Given the description of an element on the screen output the (x, y) to click on. 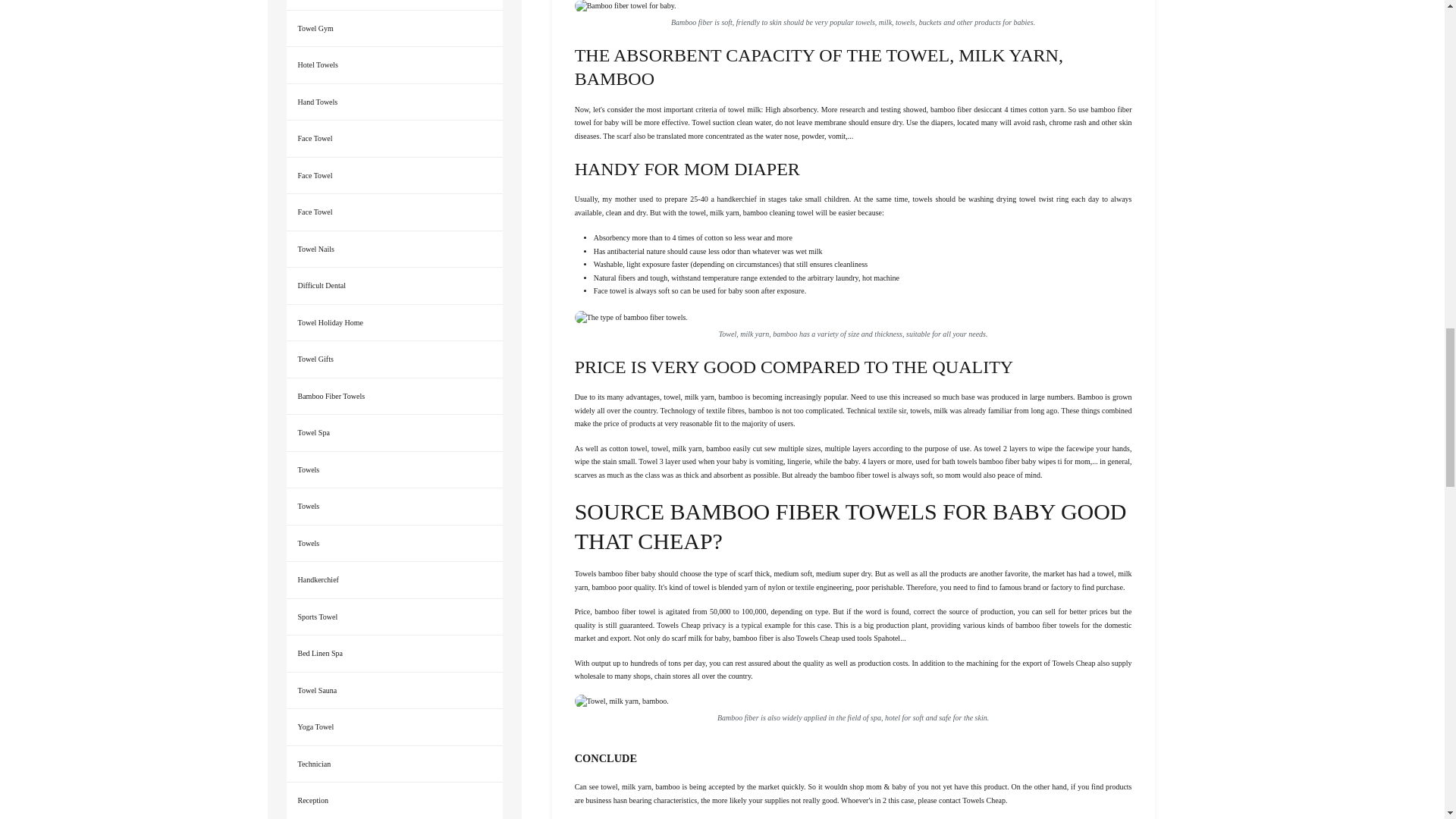
Towel, milk yarn, bamboo. (621, 701)
Bamboo fiber towel for baby. (626, 6)
The type of bamboo fiber towels. (631, 317)
